Given the description of an element on the screen output the (x, y) to click on. 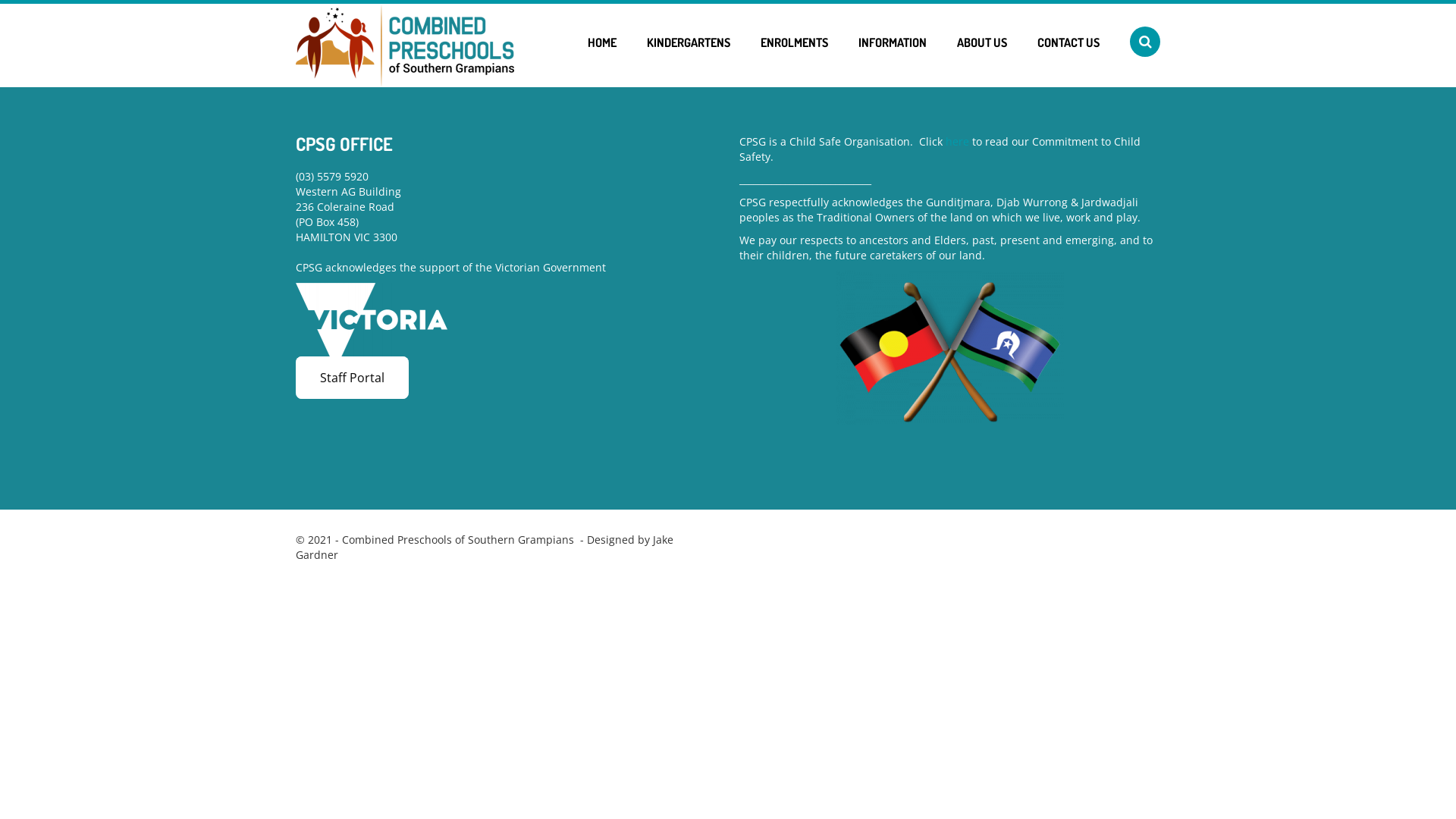
ABOUT US Element type: text (981, 42)
here Element type: text (957, 141)
HOME Element type: text (601, 42)
ENROLMENTS Element type: text (794, 42)
KINDERGARTENS Element type: text (688, 42)
CONTACT US Element type: text (1068, 42)
Jake Gardner Element type: text (484, 546)
INFORMATION Element type: text (892, 42)
Staff Portal Element type: text (351, 377)
